Given the description of an element on the screen output the (x, y) to click on. 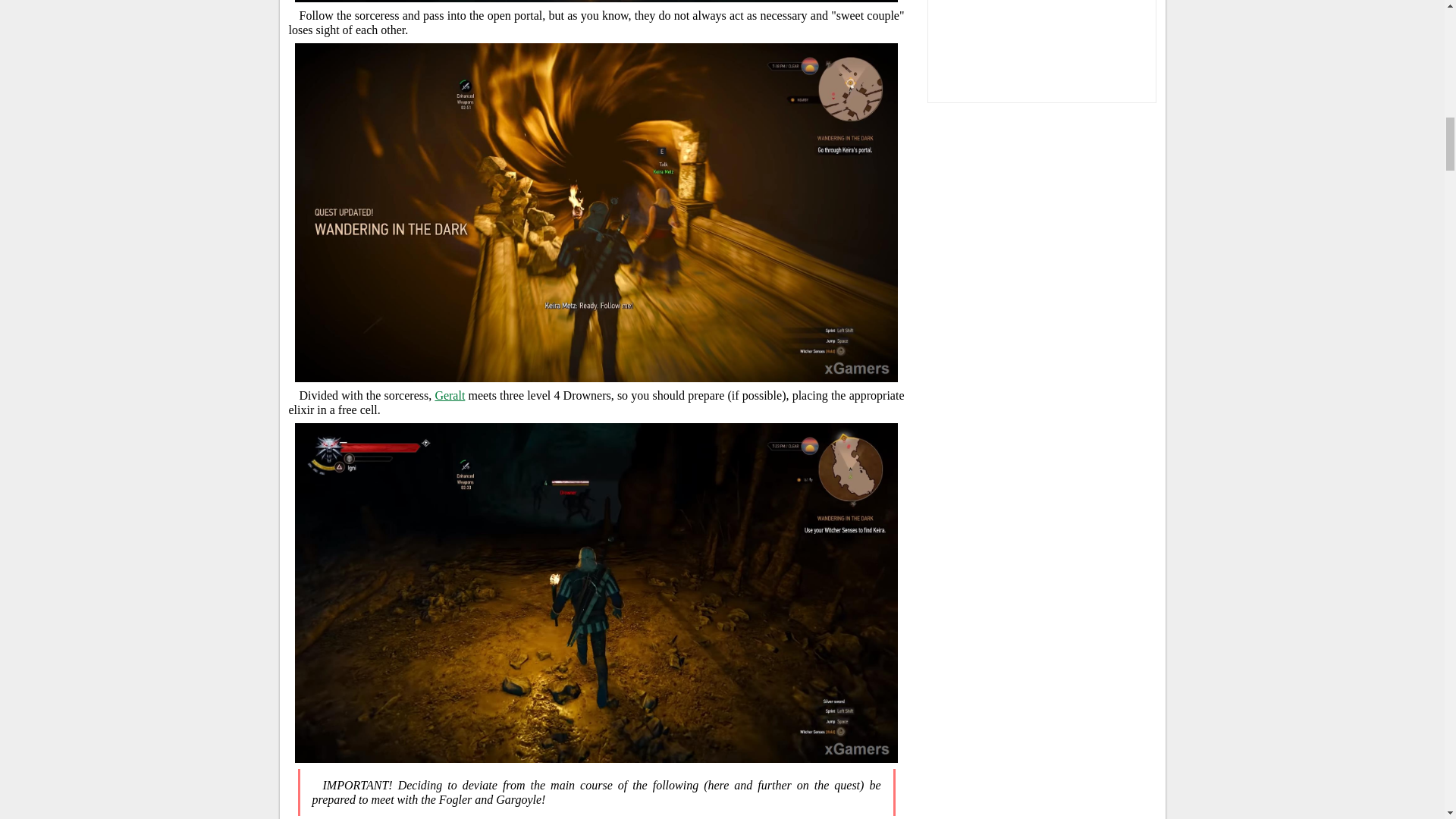
Geralt (448, 395)
